Given the description of an element on the screen output the (x, y) to click on. 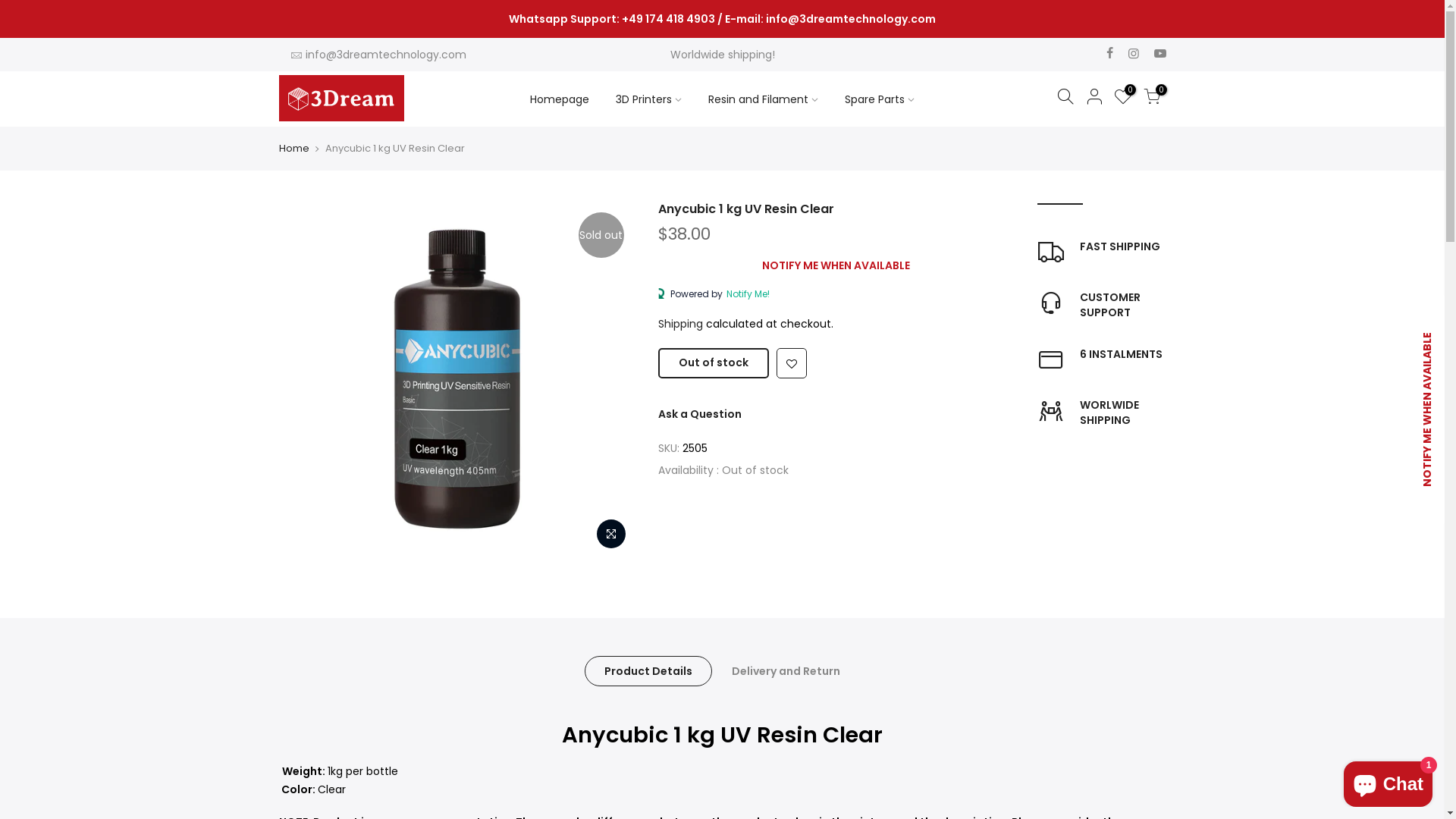
Ask a Question Element type: text (699, 413)
Resin and Filament Element type: text (762, 98)
Shipping Element type: text (680, 323)
Homepage Element type: text (559, 98)
Out of stock Element type: text (713, 363)
3D Printers Element type: text (648, 98)
info@3dreamtechnology.com Element type: text (384, 54)
Shopify online store chat Element type: hover (1388, 780)
Spare Parts Element type: text (879, 98)
0 Element type: text (1151, 98)
Notify Me! Element type: text (744, 293)
Product Details Element type: text (648, 670)
Home Element type: text (294, 148)
Delivery and Return Element type: text (785, 670)
0 Element type: text (1122, 98)
NOTIFY ME WHEN AVAILABLE Element type: text (836, 265)
